Given the description of an element on the screen output the (x, y) to click on. 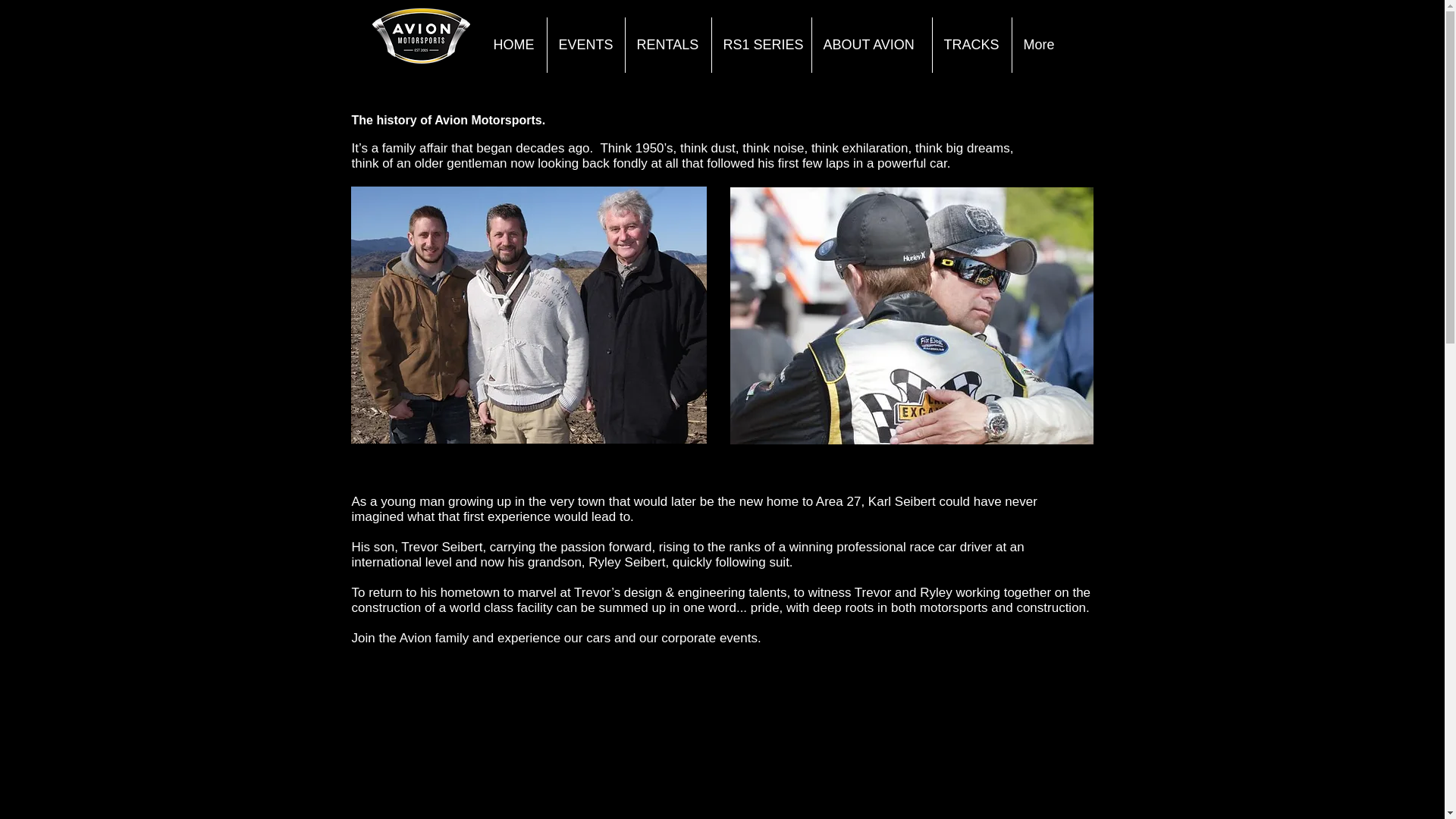
RENTALS (667, 44)
ABOUT AVION (870, 44)
TRACKS (972, 44)
EVENTS (585, 44)
HOME (514, 44)
RS1 SERIES (760, 44)
